Given the description of an element on the screen output the (x, y) to click on. 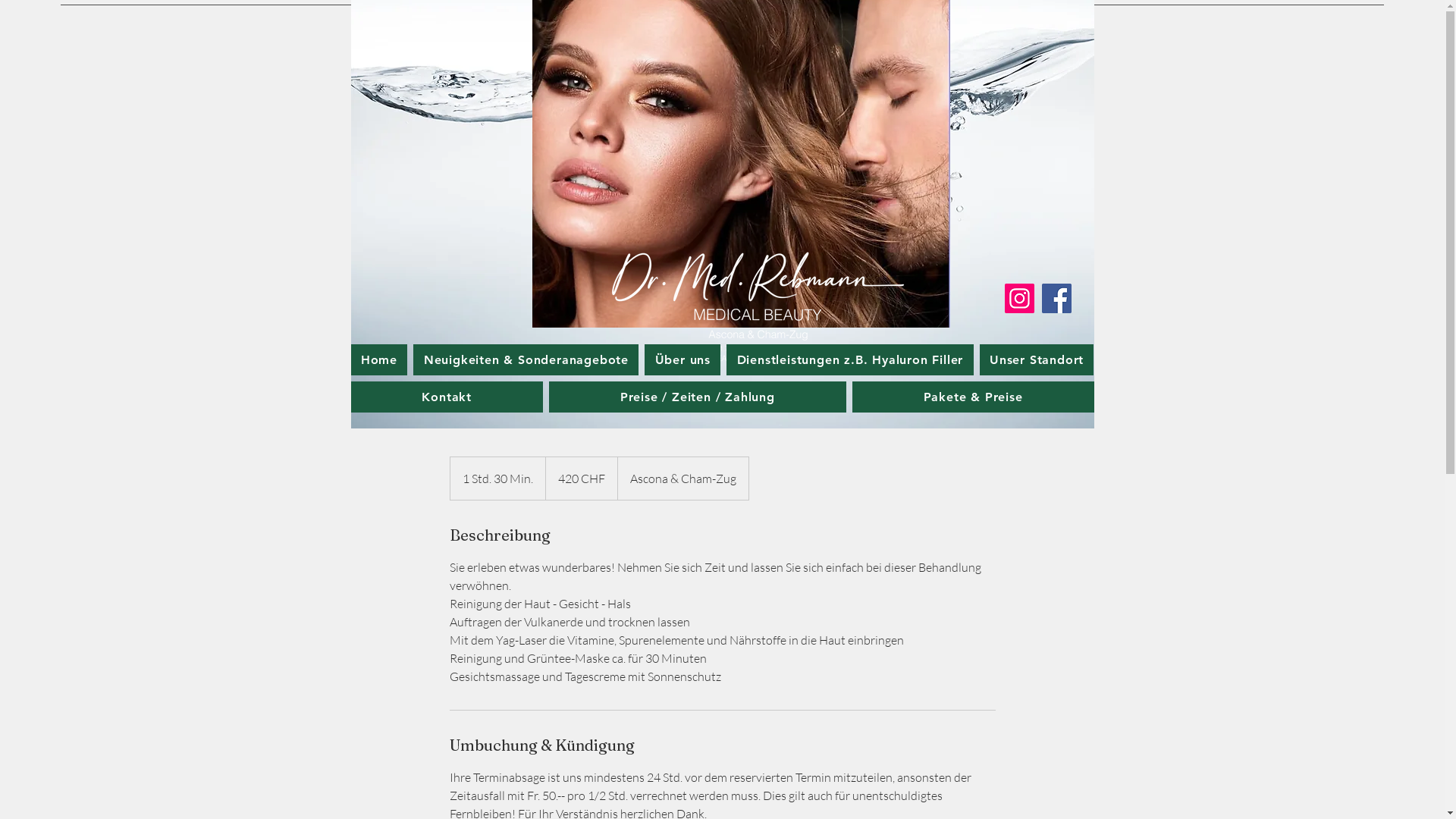
Home Element type: text (378, 359)
Neuigkeiten & Sonderanagebote Element type: text (525, 359)
Preise / Zeiten / Zahlung Element type: text (697, 396)
Unser Standort Element type: text (1036, 359)
Pakete & Preise Element type: text (973, 396)
Kontakt Element type: text (446, 396)
Dienstleistungen z.B. Hyaluron Filler Element type: text (849, 359)
